Given the description of an element on the screen output the (x, y) to click on. 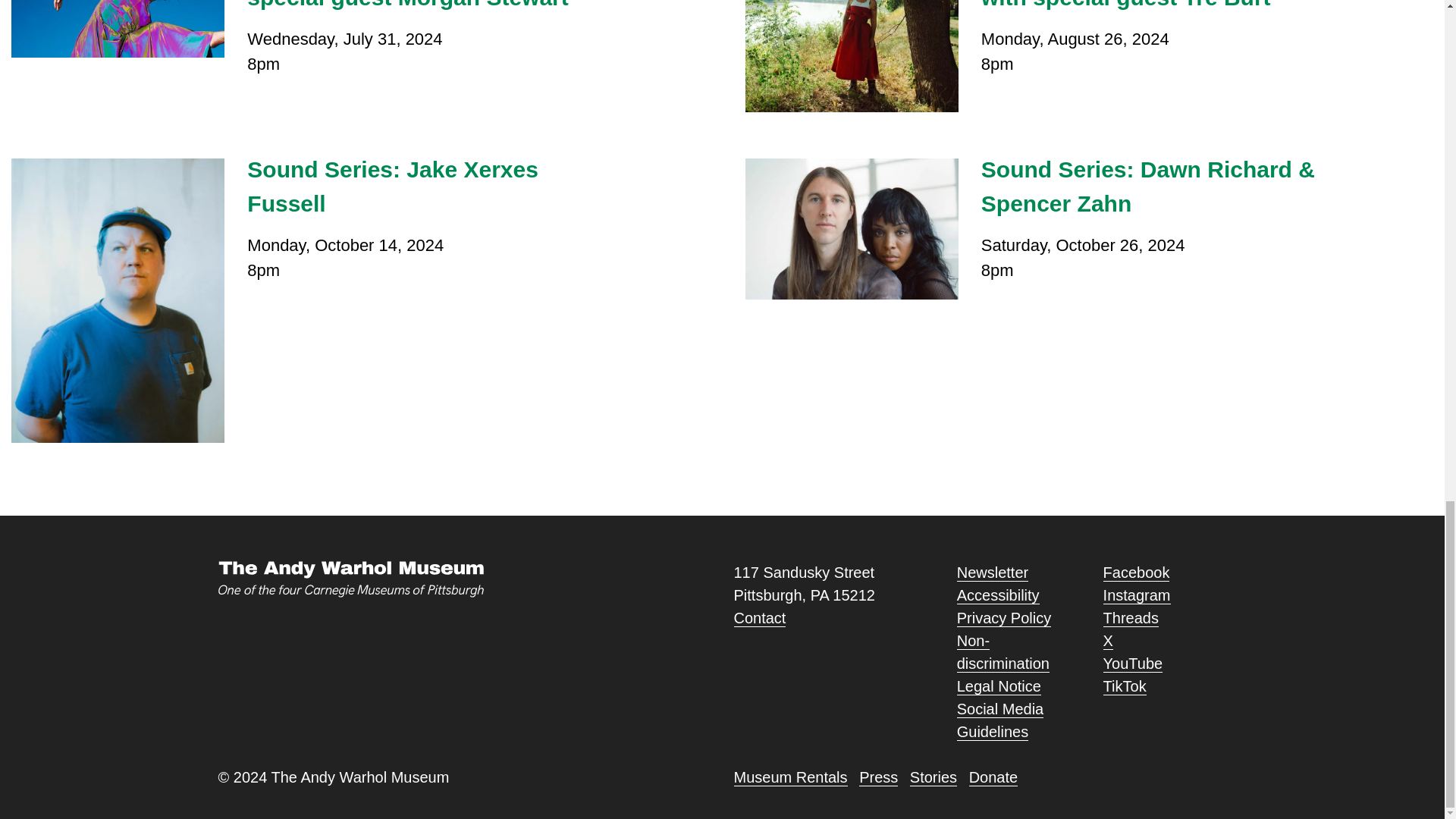
Donate (993, 777)
Sound Series: Hatis Noit with special guest Morgan Stewart (417, 7)
Contact (1130, 618)
Sound Series: Jake Xerxes Fussell (1003, 618)
Legal Notice (759, 618)
Accessibility (417, 186)
Stories (998, 686)
Museum Rentals (997, 595)
Social Media Guidelines (933, 777)
Newsletter (878, 777)
YouTube (790, 777)
TikTok (999, 721)
